Given the description of an element on the screen output the (x, y) to click on. 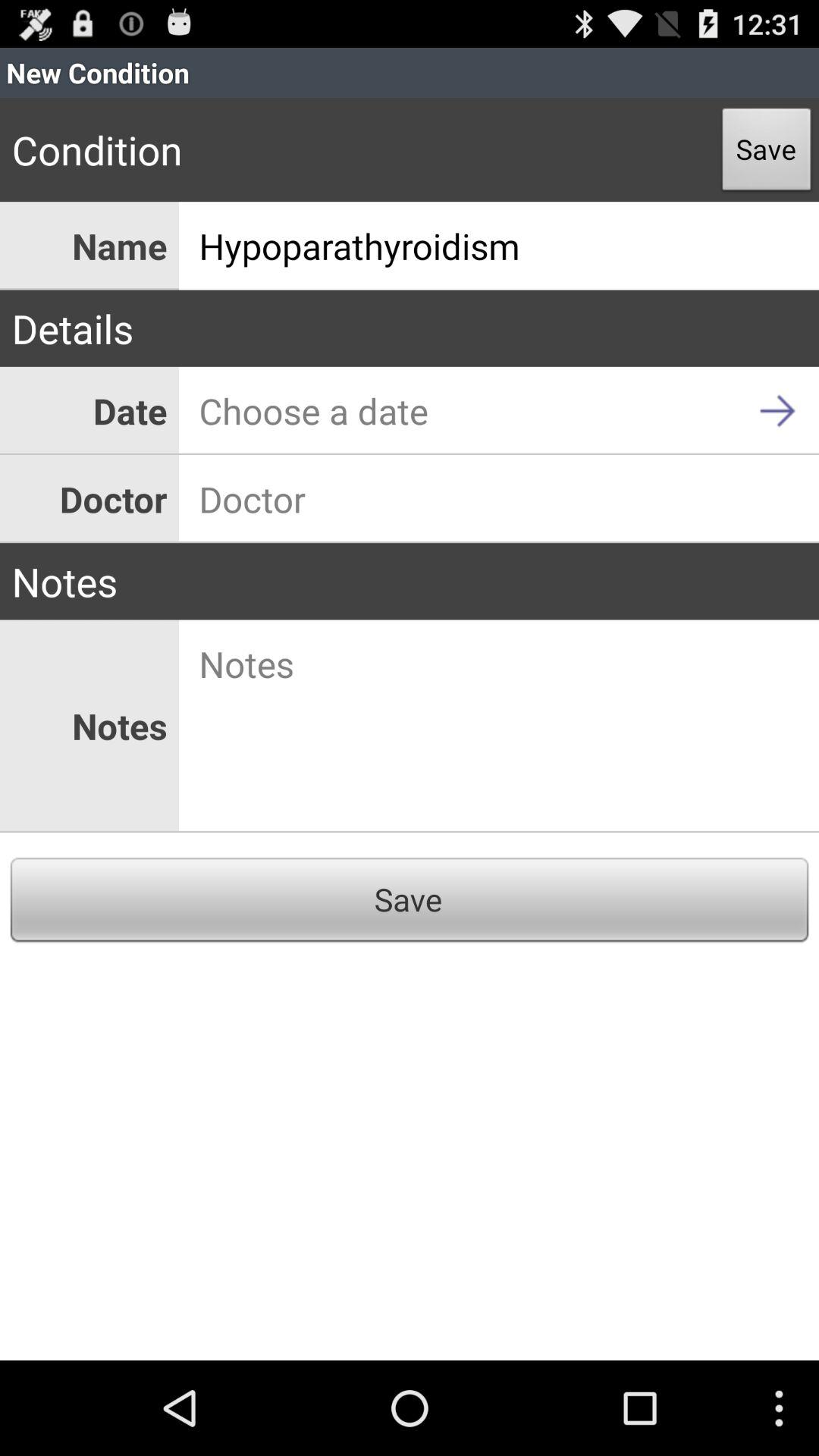
enter notes (499, 725)
